Given the description of an element on the screen output the (x, y) to click on. 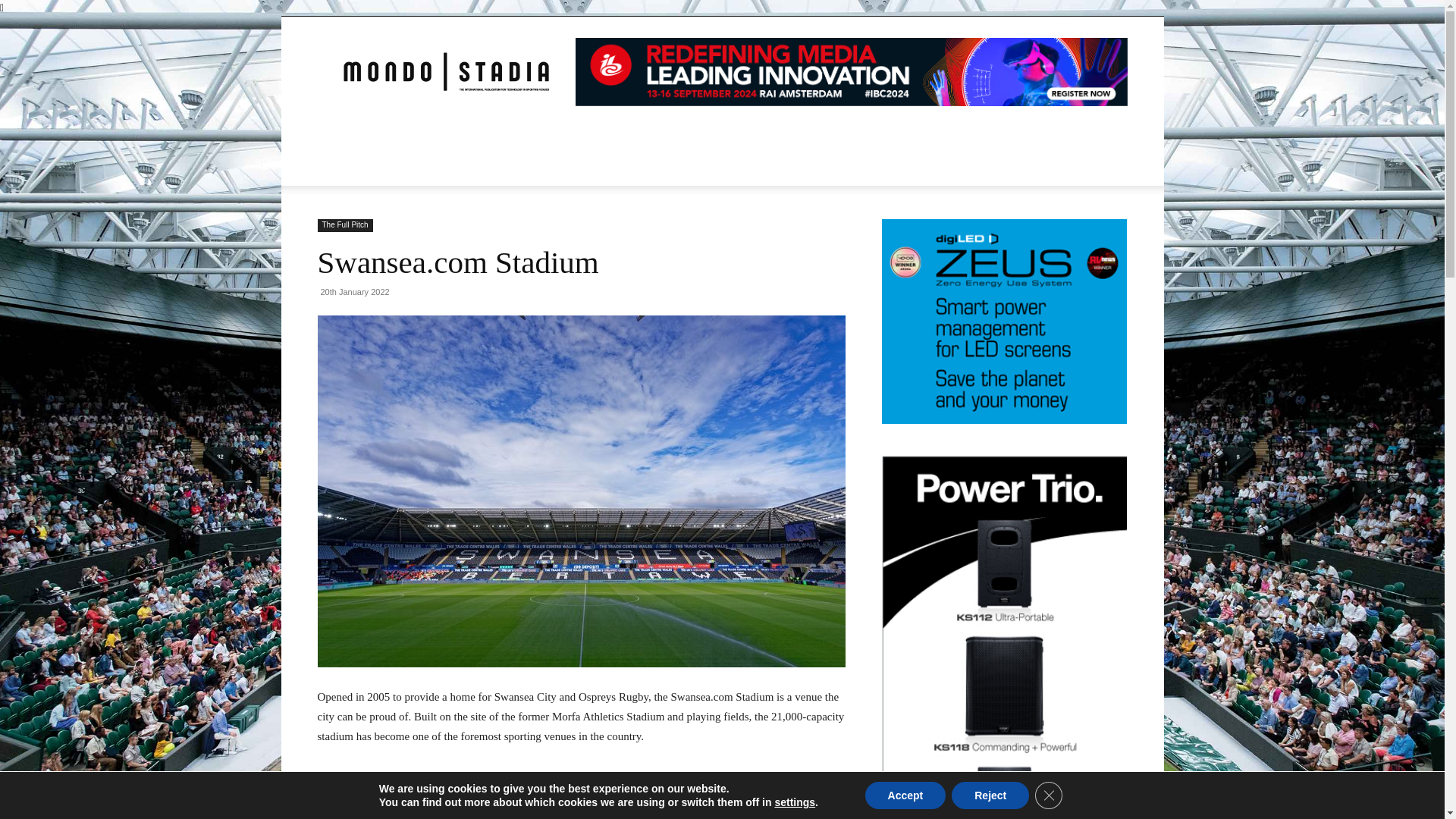
MAGAZINE (467, 131)
NEWS (396, 131)
DIGITAL ISSUES (686, 131)
HOME (343, 131)
Welcome to mondo stadia (445, 71)
COMMENTARY BOX (573, 131)
